Given the description of an element on the screen output the (x, y) to click on. 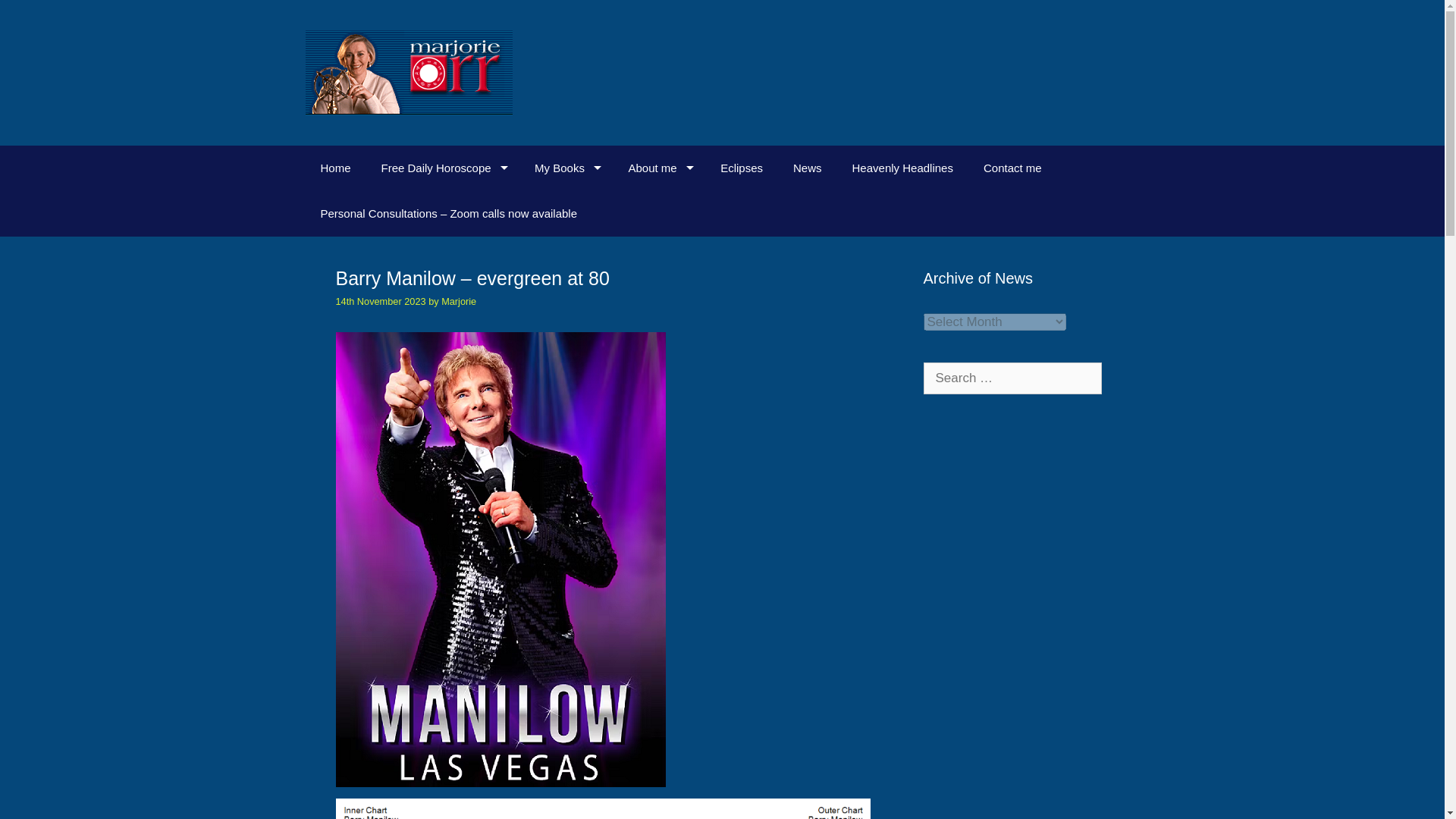
Contact me (1012, 167)
News (807, 167)
My Books (565, 167)
1:05 pm (379, 301)
Home (334, 167)
Eclipses (740, 167)
Heavenly Headlines (902, 167)
Free Daily Horoscope (442, 167)
About me (658, 167)
View all posts by Marjorie (458, 301)
